Given the description of an element on the screen output the (x, y) to click on. 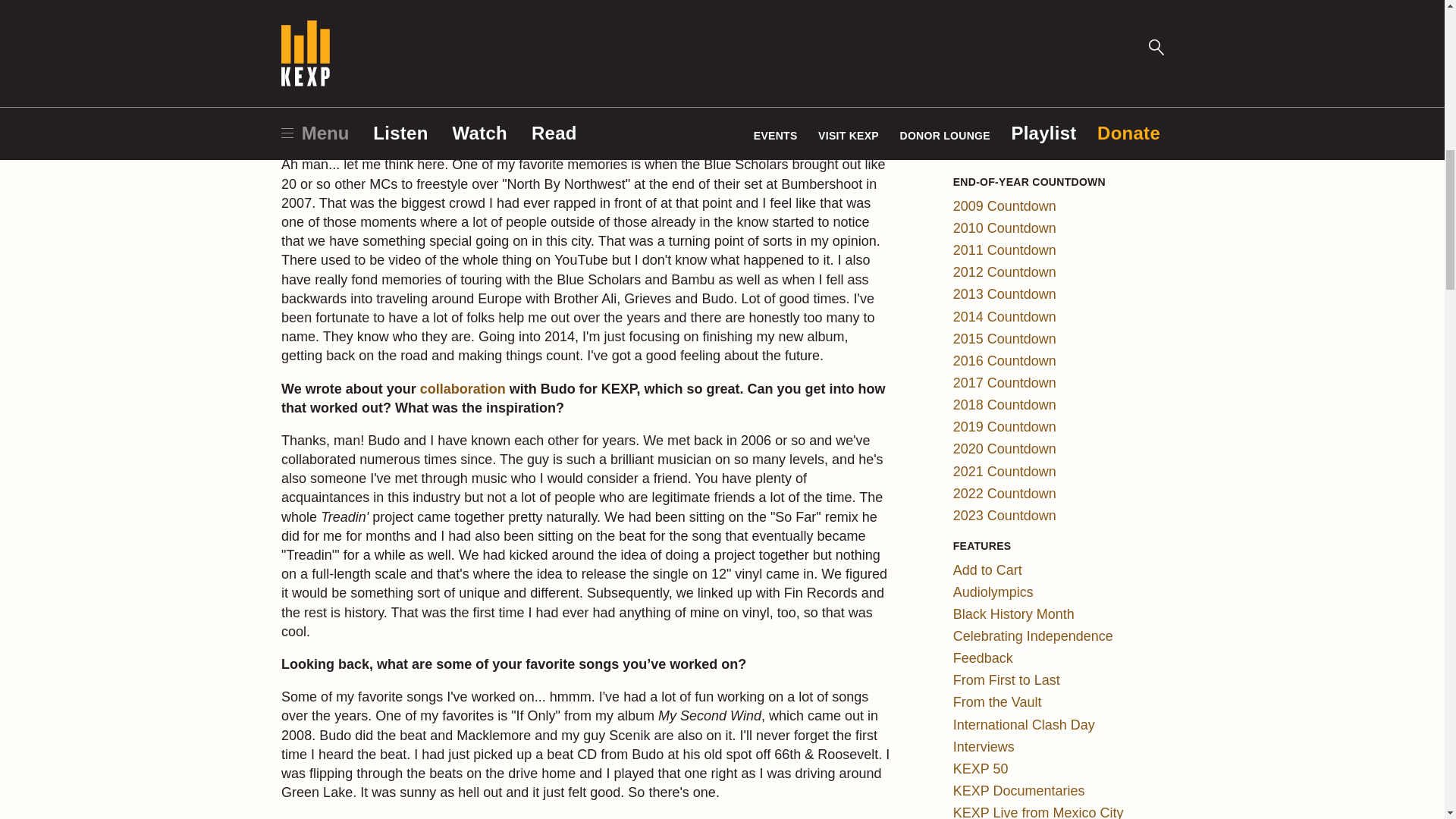
collaboration (462, 388)
Grynch (302, 5)
